Given the description of an element on the screen output the (x, y) to click on. 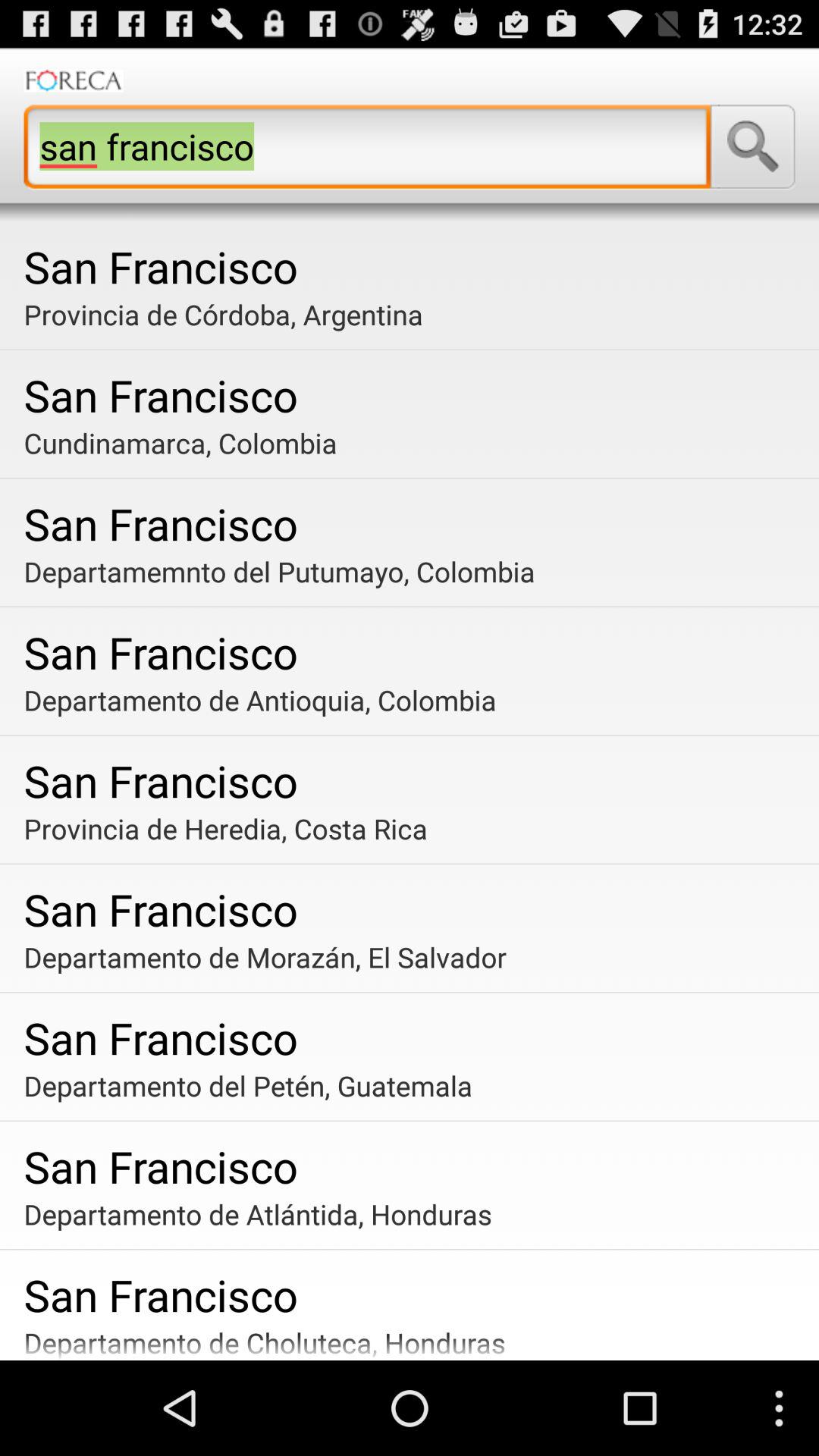
choose departamemnto del putumayo item (415, 571)
